Given the description of an element on the screen output the (x, y) to click on. 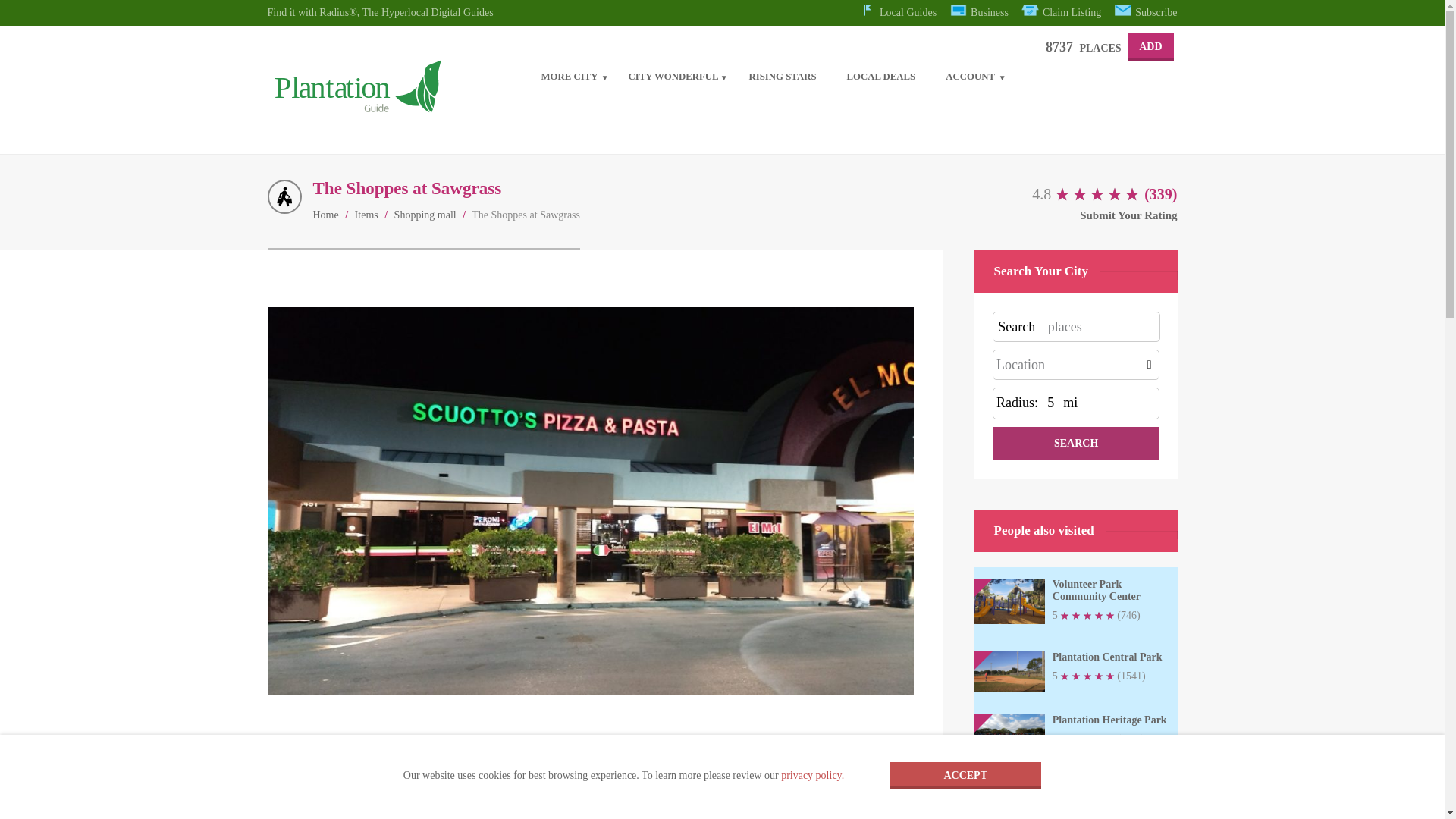
MORE CITY (568, 72)
LOCAL DEALS (881, 72)
Claim Listing (1061, 12)
Submit Your Rating (1062, 215)
Home (325, 214)
RISING STARS (782, 72)
Local Guides (898, 12)
ADD (1149, 46)
ACCOUNT (970, 72)
Shopping mall (425, 214)
Items (366, 214)
Subscribe (1146, 12)
Items (366, 214)
CITY WONDERFUL (672, 72)
